Given the description of an element on the screen output the (x, y) to click on. 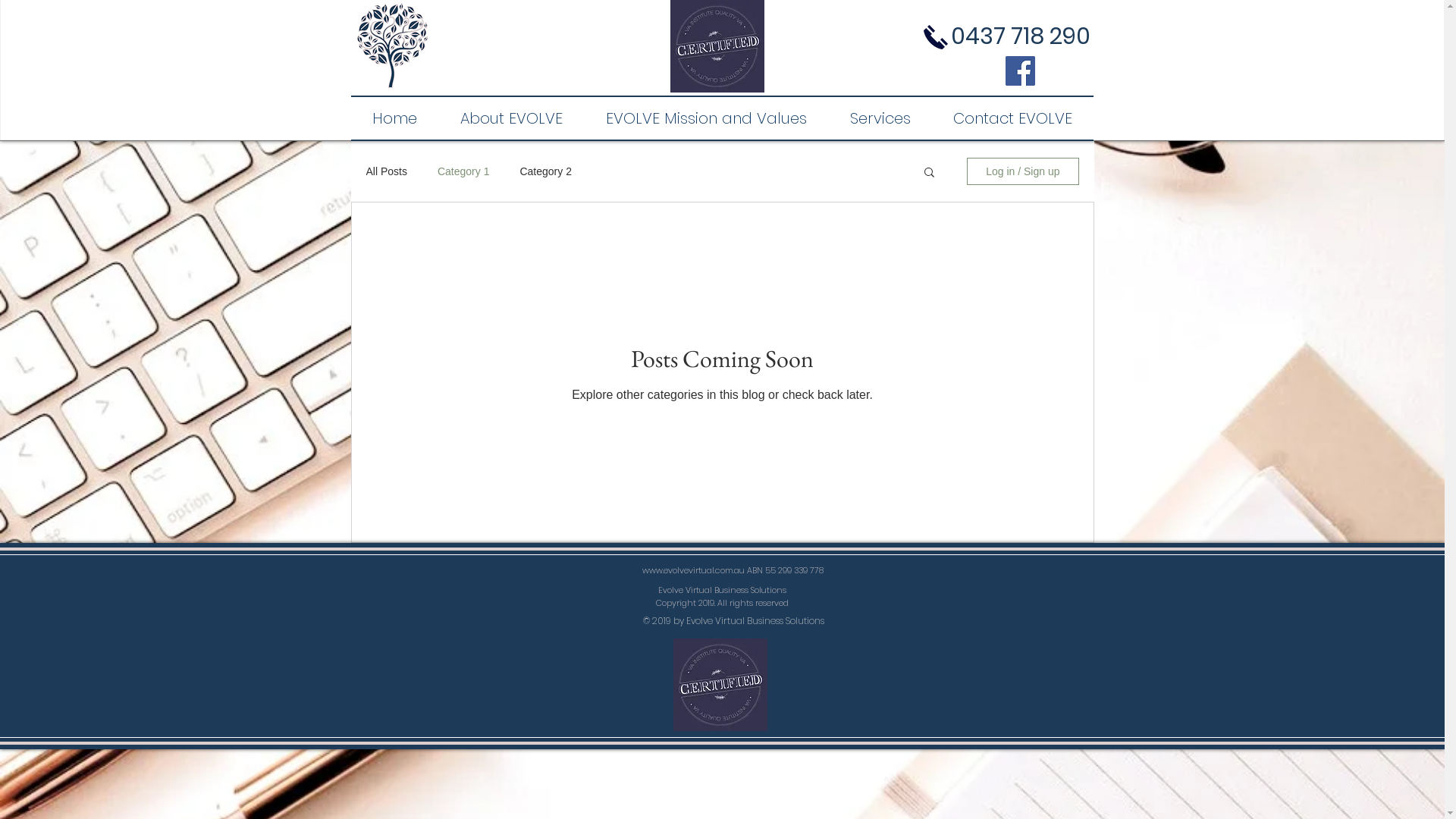
Log in / Sign up Element type: text (1022, 171)
Contact EVOLVE Element type: text (1011, 118)
www.evolvevirtual.com.au Element type: text (693, 570)
All Posts Element type: text (385, 171)
Home Element type: text (394, 118)
About EVOLVE Element type: text (510, 118)
0437 718 290 Element type: text (1020, 35)
Category 2 Element type: text (545, 171)
EVOLVE Mission and Values Element type: text (705, 118)
Category 1 Element type: text (463, 171)
